Given the description of an element on the screen output the (x, y) to click on. 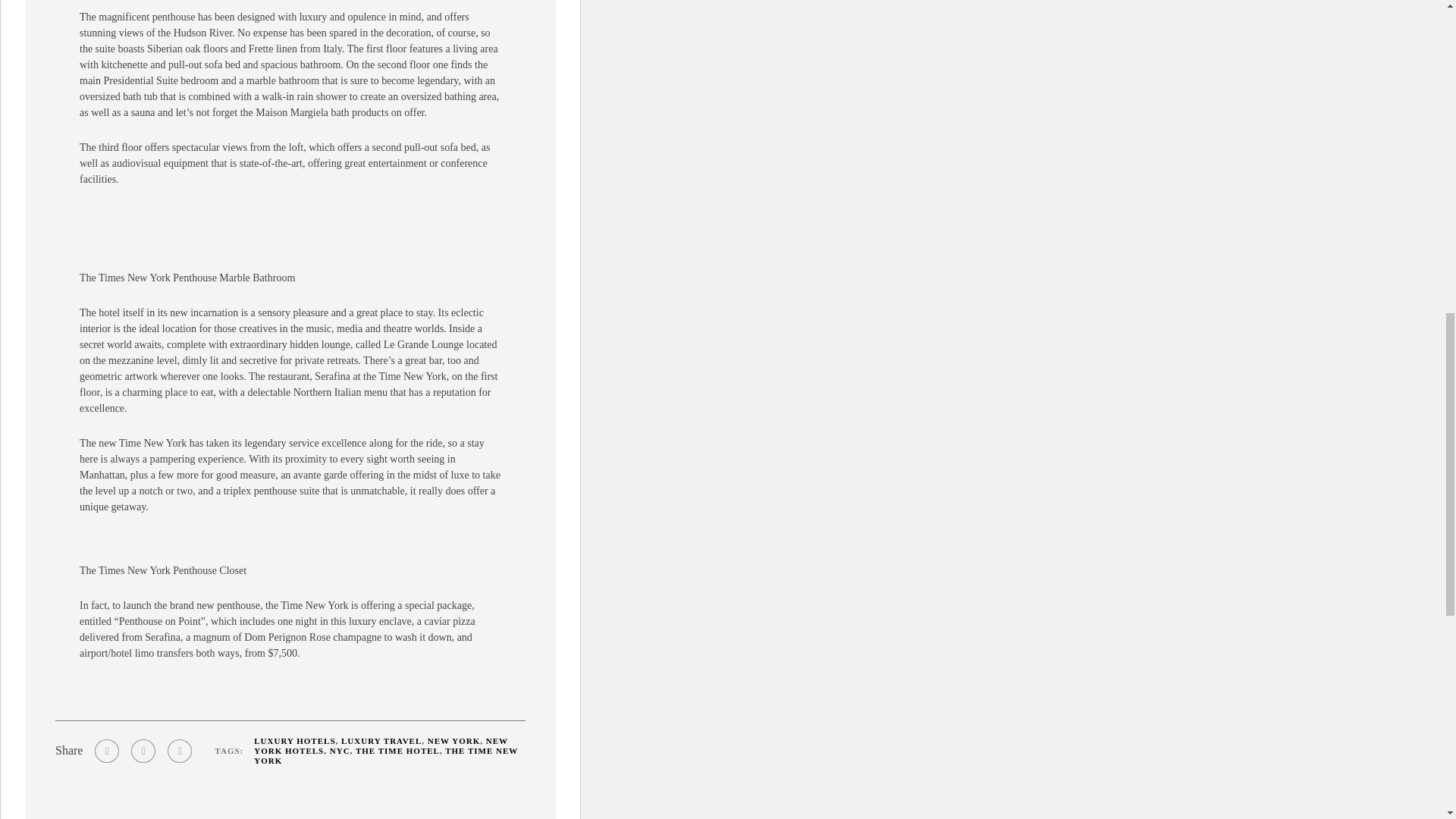
THE TIME NEW YORK (385, 755)
NYC (340, 750)
NEW YORK HOTELS (380, 745)
NEW YORK (454, 740)
LUXURY HOTELS (293, 740)
LUXURY TRAVEL (381, 740)
THE TIME HOTEL (397, 750)
